Given the description of an element on the screen output the (x, y) to click on. 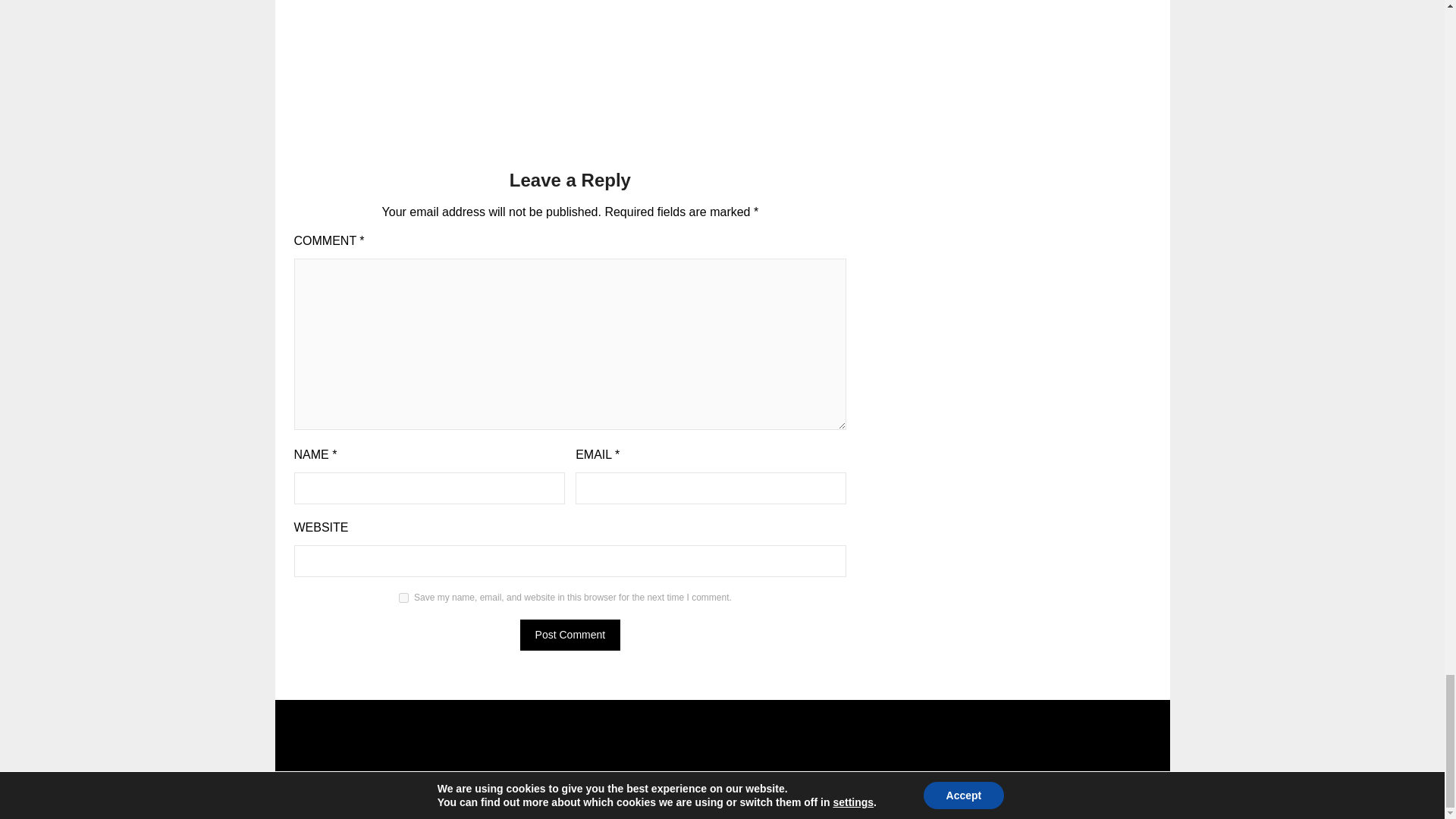
Post Comment (570, 634)
Post Comment (570, 634)
Newspaperly WordPress Theme (806, 797)
yes (403, 597)
